Given the description of an element on the screen output the (x, y) to click on. 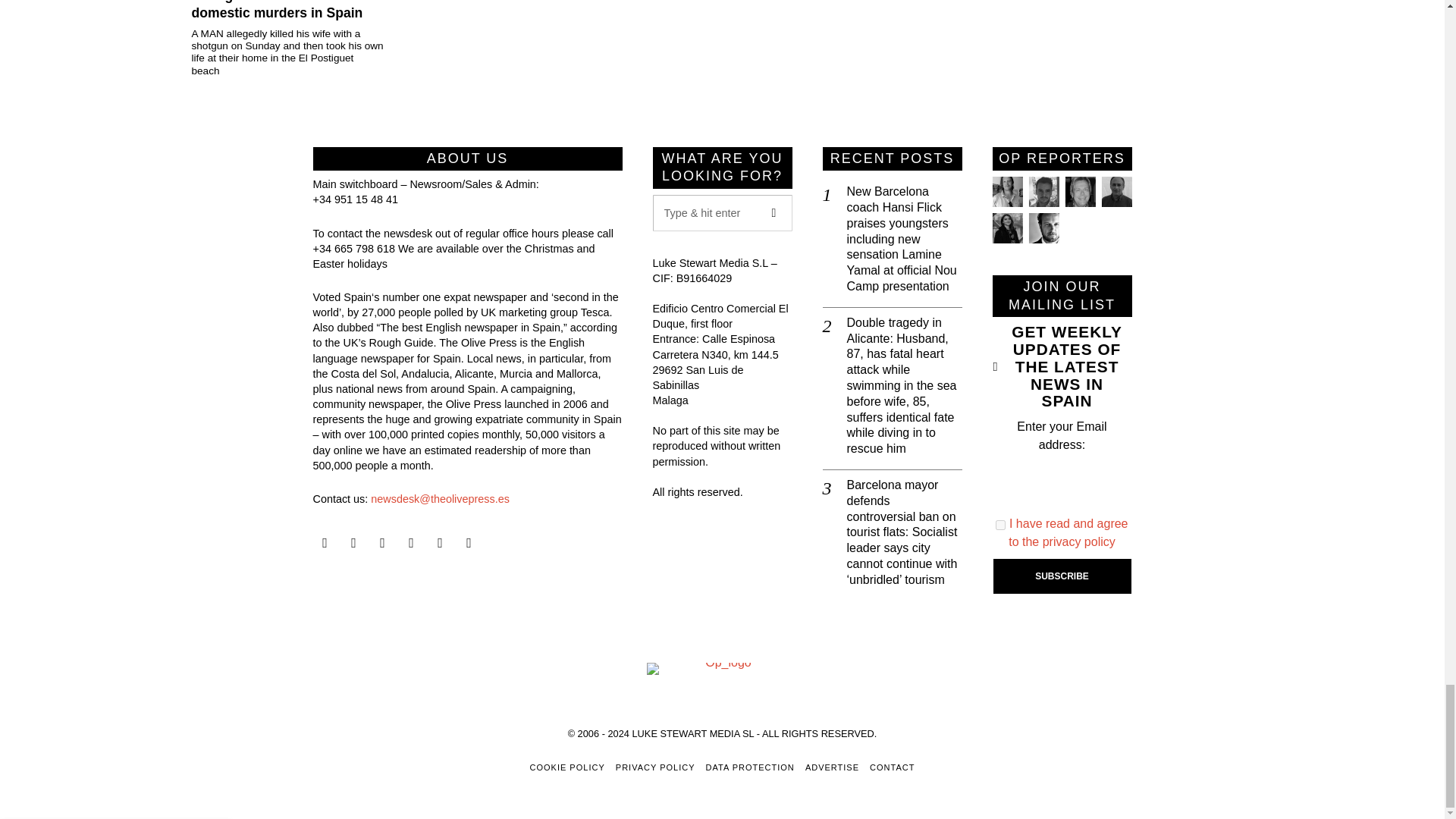
Go (773, 212)
SUBSCRIBE (1061, 575)
Dilip Kuner (1115, 191)
Alex Trelinski (1079, 191)
1 (1000, 524)
Laurence Dollimore (1042, 191)
